Given the description of an element on the screen output the (x, y) to click on. 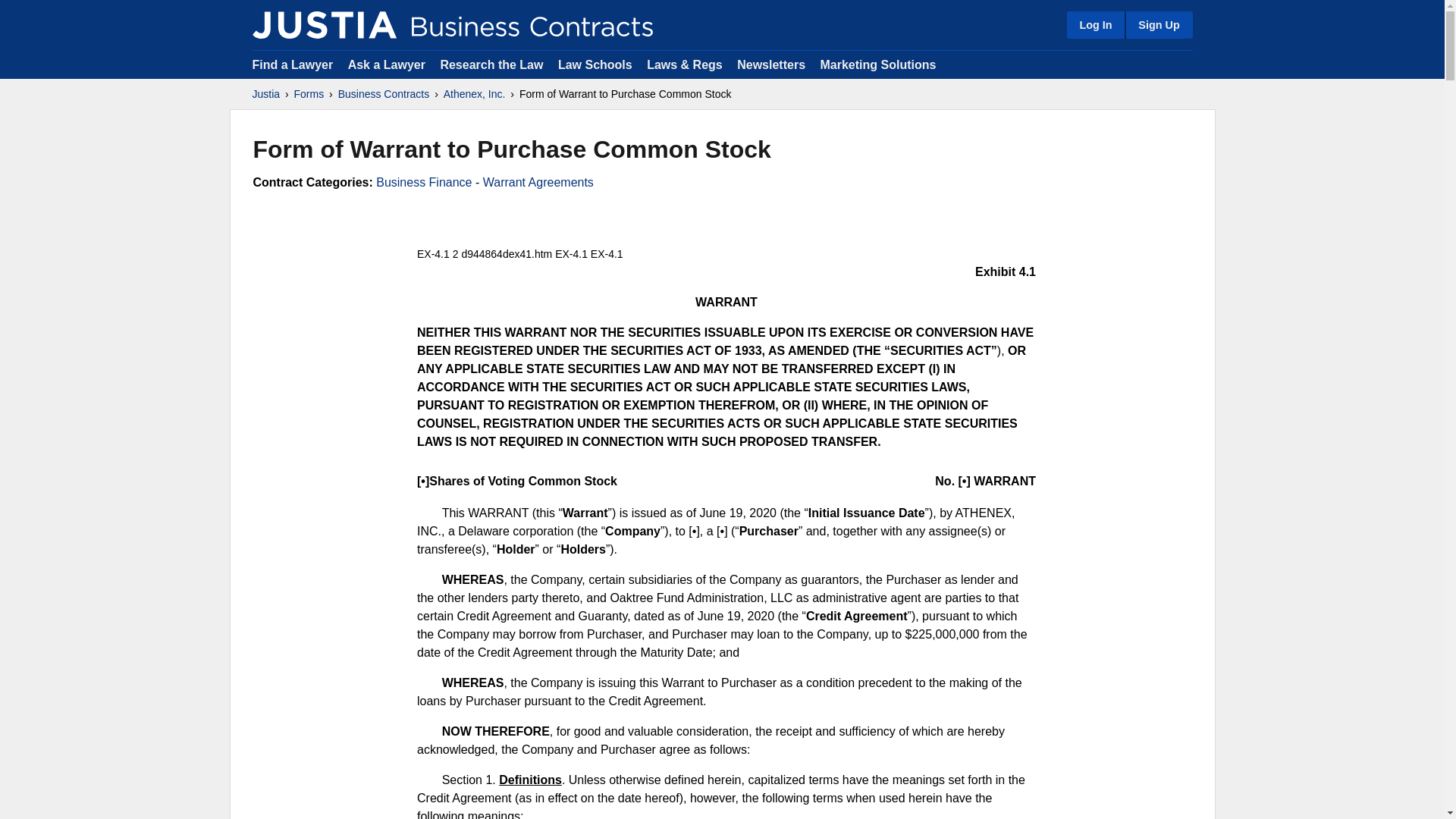
Marketing Solutions (877, 64)
Law Schools (594, 64)
Log In (1094, 24)
Ask a Lawyer (388, 64)
Athenex, Inc. (474, 93)
Sign Up (1158, 24)
Warrant Agreements (538, 182)
Newsletters (770, 64)
Business Contracts (383, 93)
Forms (309, 93)
